Given the description of an element on the screen output the (x, y) to click on. 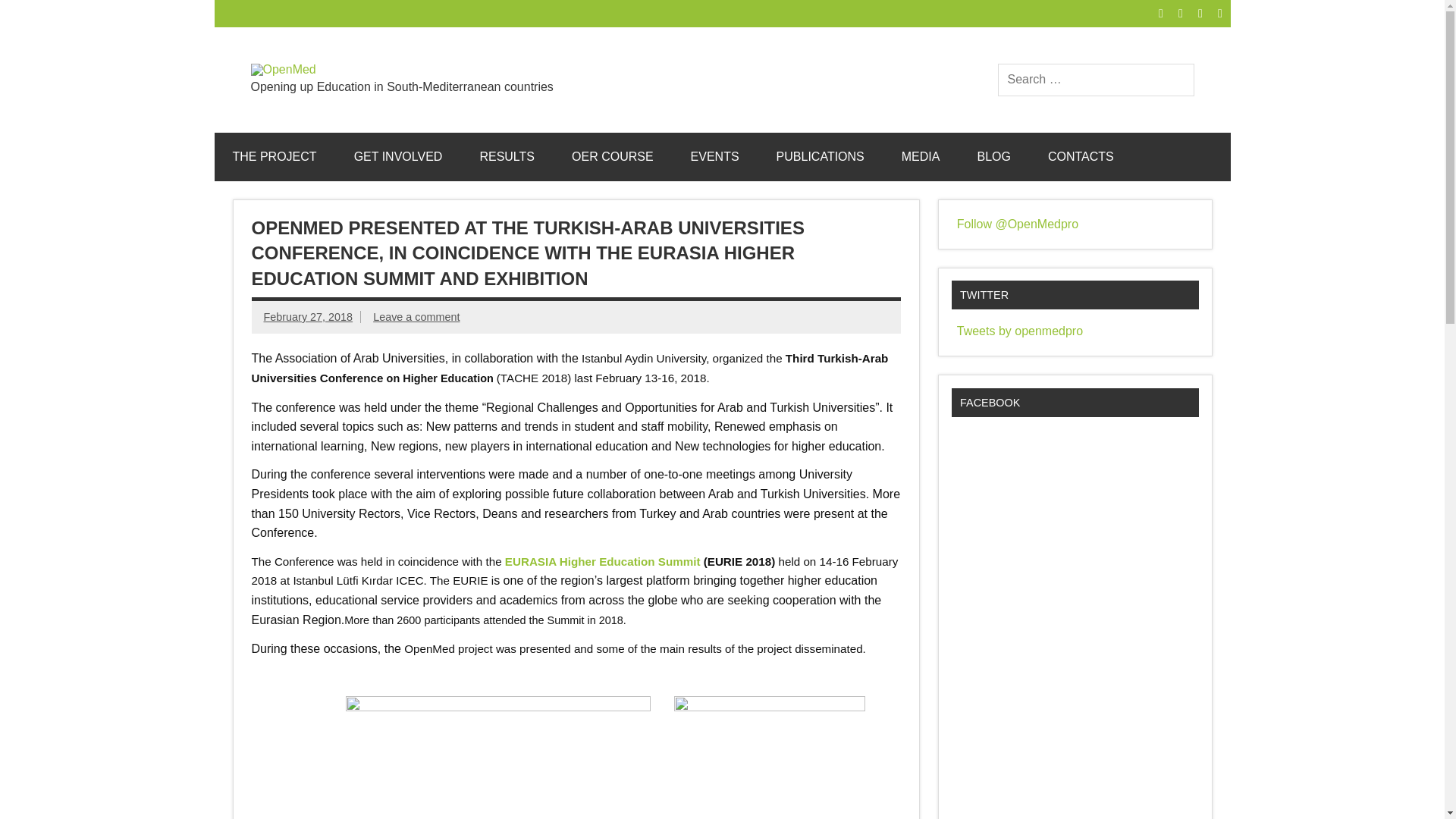
GET INVOLVED (398, 156)
OER COURSE (612, 156)
1:53 pm (308, 316)
PUBLICATIONS (820, 156)
Leave a comment (416, 316)
EURASIA Higher Education Summit (604, 561)
MEDIA (920, 156)
BLOG (992, 156)
February 27, 2018 (308, 316)
